Given the description of an element on the screen output the (x, y) to click on. 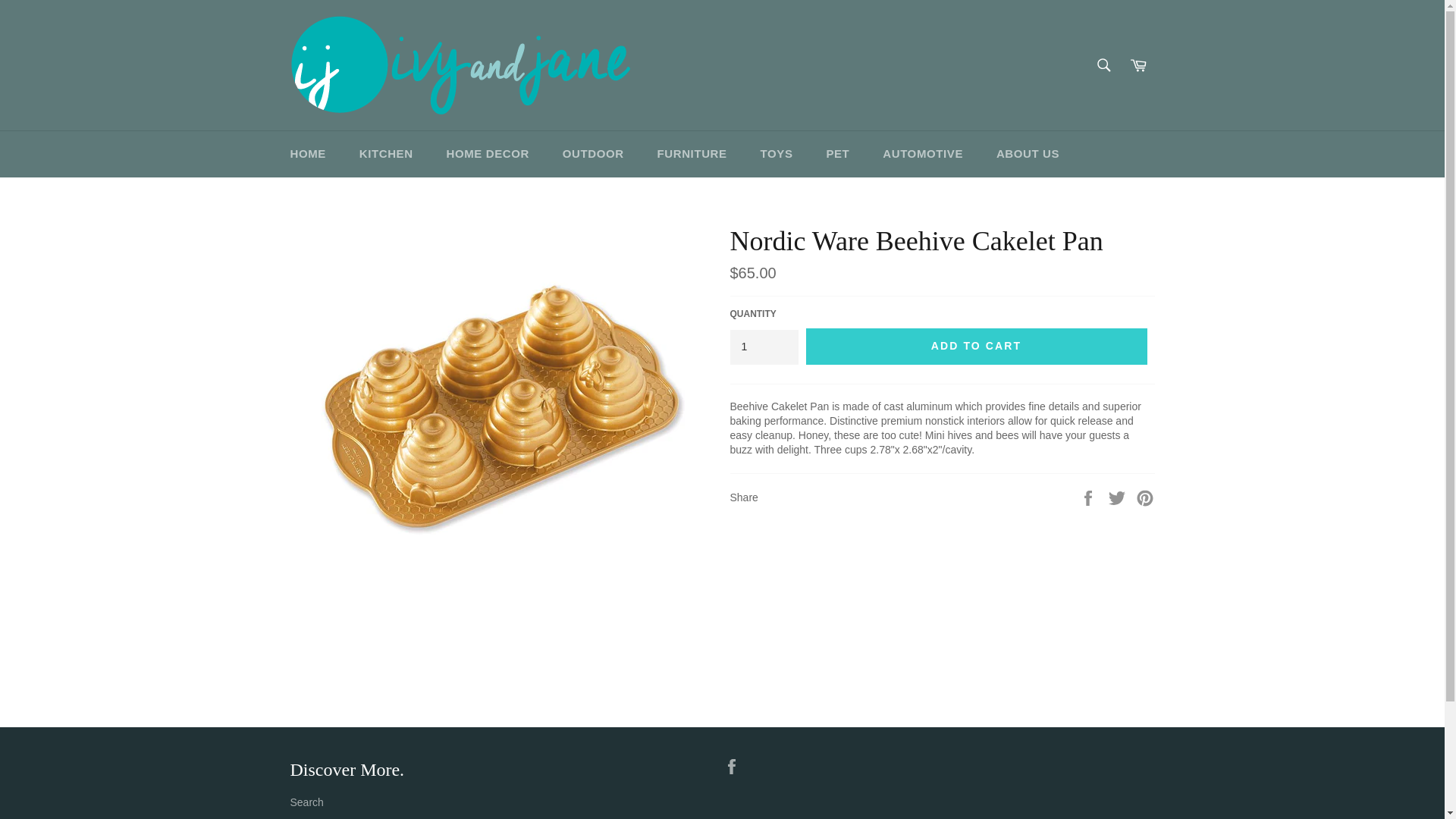
FURNITURE (692, 154)
ADD TO CART (976, 346)
Pin on Pinterest (1144, 496)
Tweet on Twitter (1118, 496)
1 (763, 346)
AUTOMOTIVE (922, 154)
KITCHEN (385, 154)
Share on Facebook (1089, 496)
HOME (307, 154)
